Given the description of an element on the screen output the (x, y) to click on. 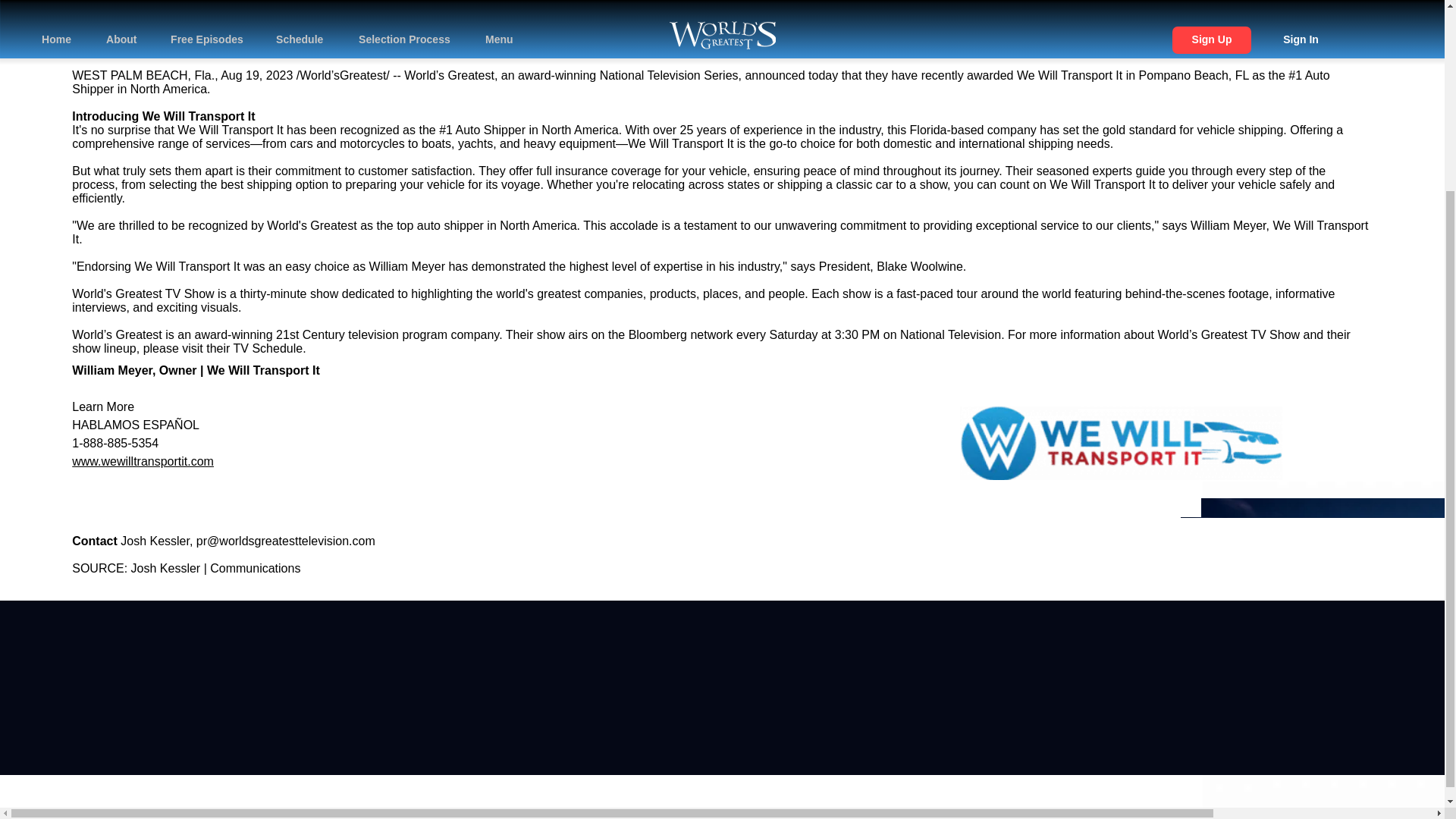
We Will Transport It (263, 369)
We Will Transport It (199, 115)
www.wewilltransportit.com (142, 461)
